Given the description of an element on the screen output the (x, y) to click on. 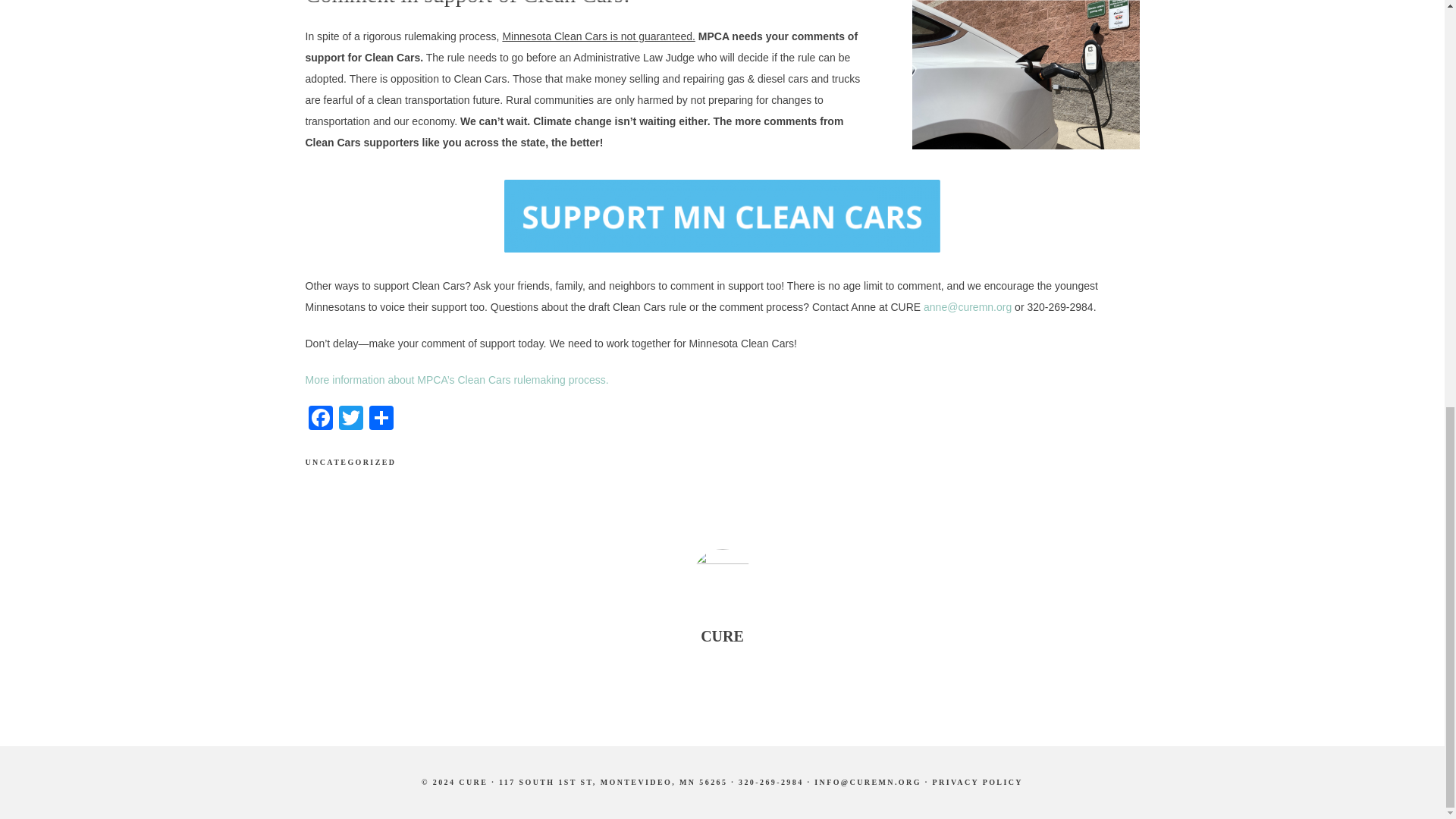
Twitter (349, 419)
Facebook (319, 419)
